Given the description of an element on the screen output the (x, y) to click on. 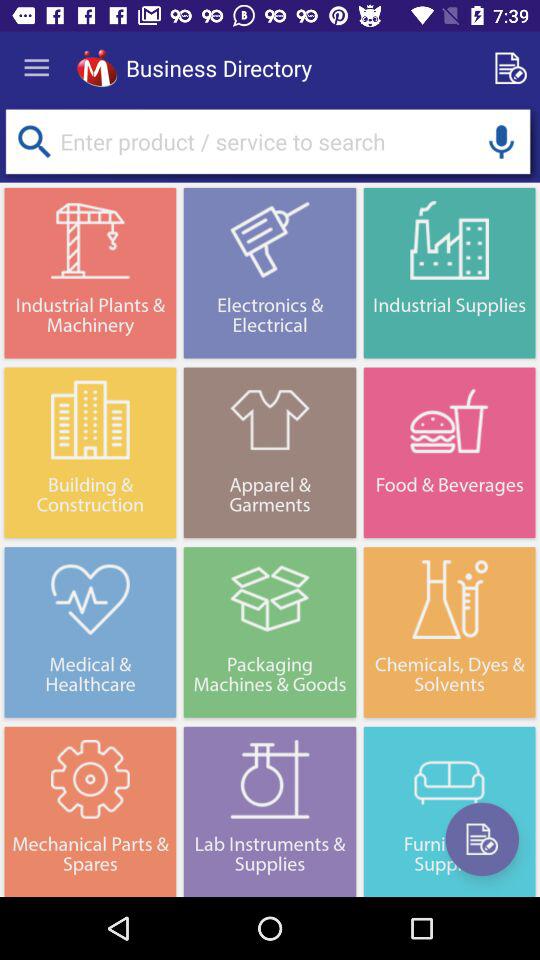
copy the text (514, 68)
